Given the description of an element on the screen output the (x, y) to click on. 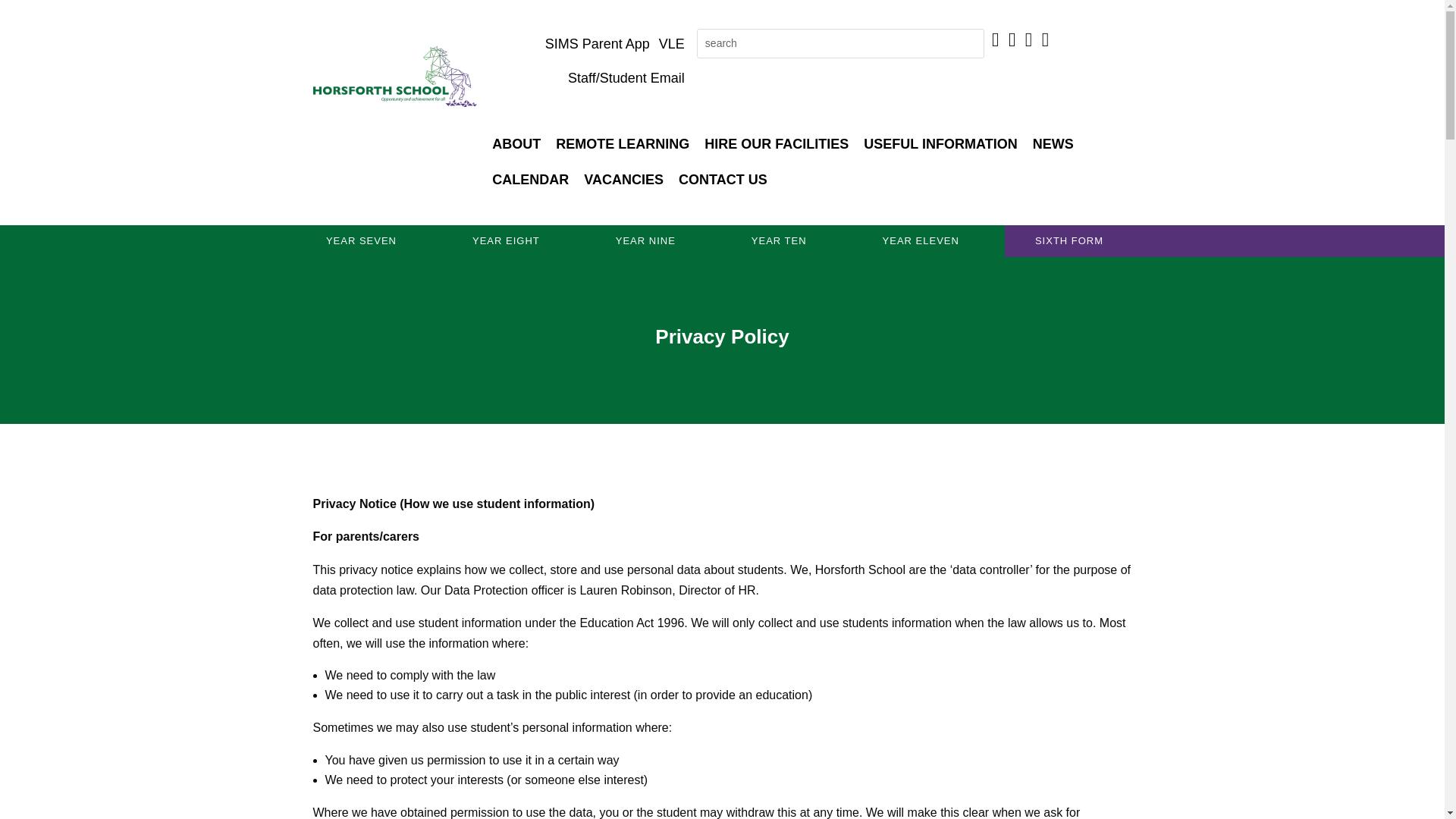
VLE (670, 44)
SIMS Parent App (596, 44)
REMOTE LEARNING (622, 144)
USEFUL INFORMATION (940, 144)
ABOUT (516, 144)
CONTACT US (722, 180)
Search (25, 13)
CALENDAR (530, 180)
HIRE OUR FACILITIES (776, 144)
NEWS (1053, 144)
VACANCIES (623, 180)
